Given the description of an element on the screen output the (x, y) to click on. 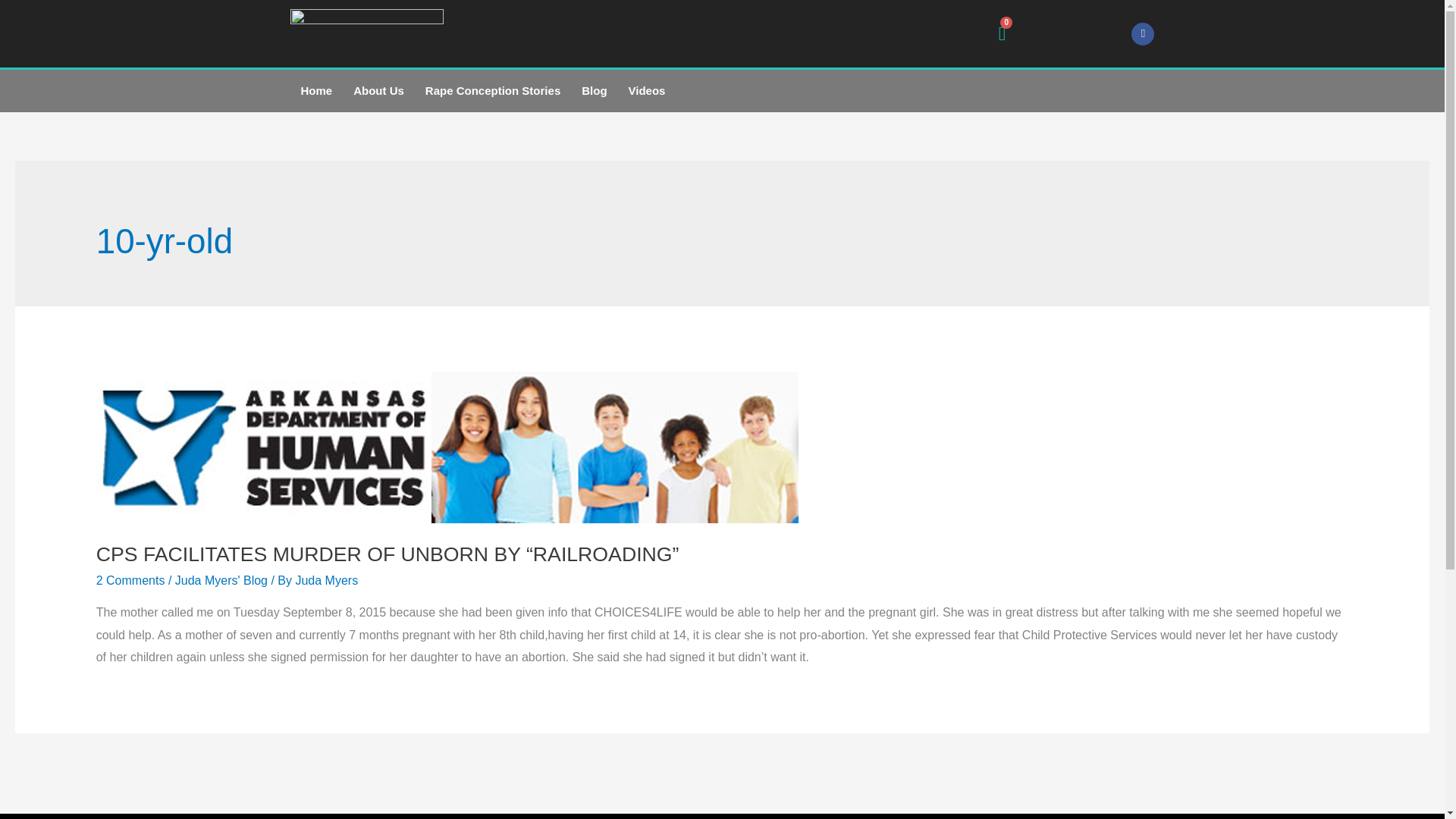
Juda Myers' Blog (220, 580)
Juda Myers (326, 580)
2 Comments (130, 580)
Blog (593, 90)
Videos (647, 90)
Home (315, 90)
About Us (378, 90)
Rape Conception Stories (492, 90)
View all posts by Juda Myers (326, 580)
